Given the description of an element on the screen output the (x, y) to click on. 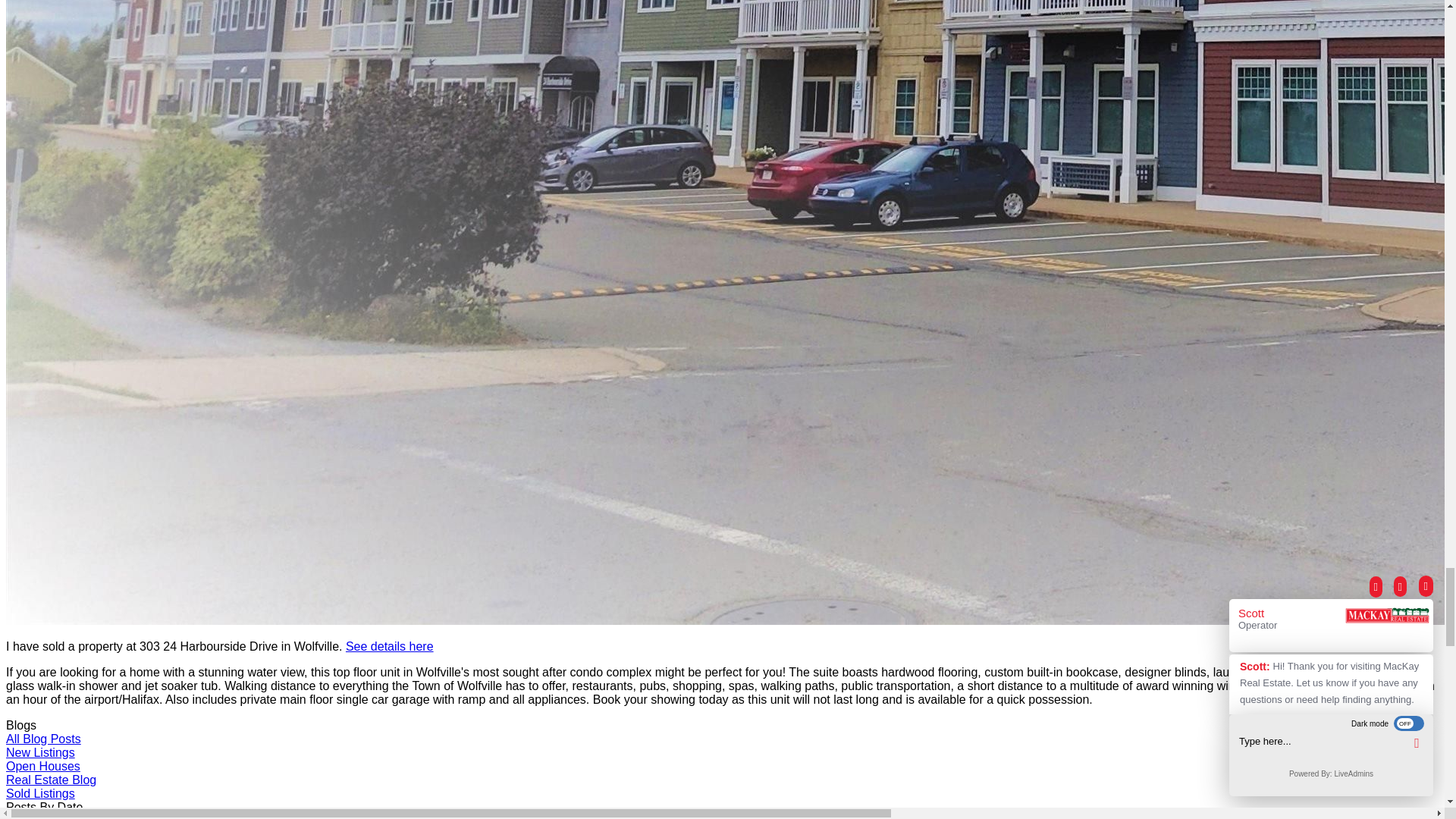
Most Recent (39, 816)
See details here (389, 645)
All Blog Posts (43, 738)
Real Estate Blog (50, 779)
Sold Listings (40, 793)
Open Houses (42, 766)
New Listings (40, 752)
